Given the description of an element on the screen output the (x, y) to click on. 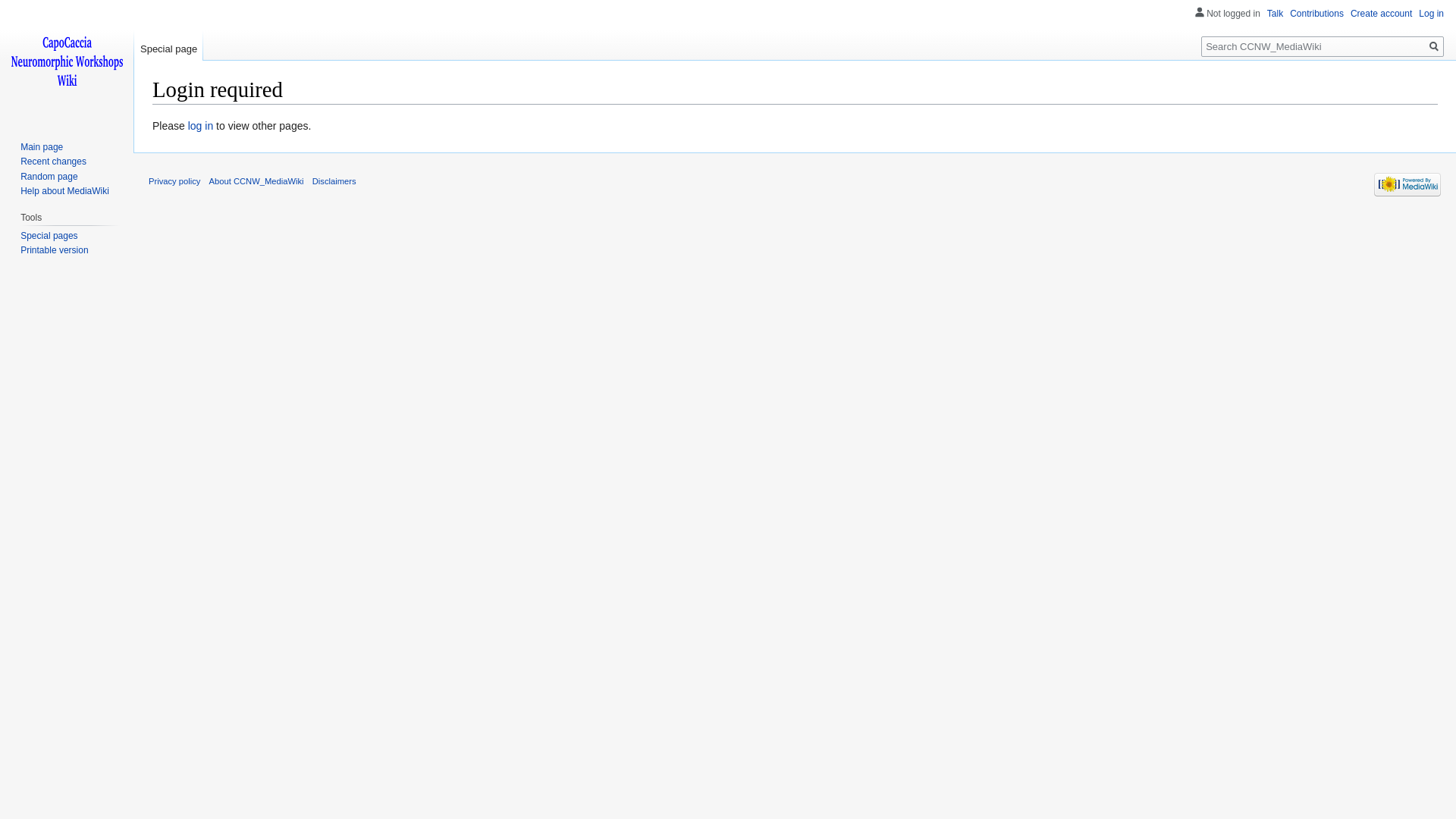
Random page Element type: text (48, 176)
Help about MediaWiki Element type: text (64, 190)
Create account Element type: text (1381, 13)
Go Element type: text (1433, 46)
Visit the main page Element type: hover (66, 60)
Disclaimers Element type: text (334, 180)
Special pages Element type: text (48, 235)
About CCNW_MediaWiki Element type: text (256, 180)
Main page Element type: text (41, 146)
Go to a page with this exact name if it exists Element type: hover (1433, 46)
Recent changes Element type: text (53, 161)
Talk Element type: text (1275, 13)
Jump to navigation Element type: text (151, 116)
Log in Element type: text (1430, 13)
Printable version Element type: text (53, 249)
Privacy policy Element type: text (174, 180)
Contributions Element type: text (1316, 13)
Search CCNW_MediaWiki [alt-shift-f] Element type: hover (1322, 46)
log in Element type: text (200, 125)
Special page Element type: text (168, 45)
